Given the description of an element on the screen output the (x, y) to click on. 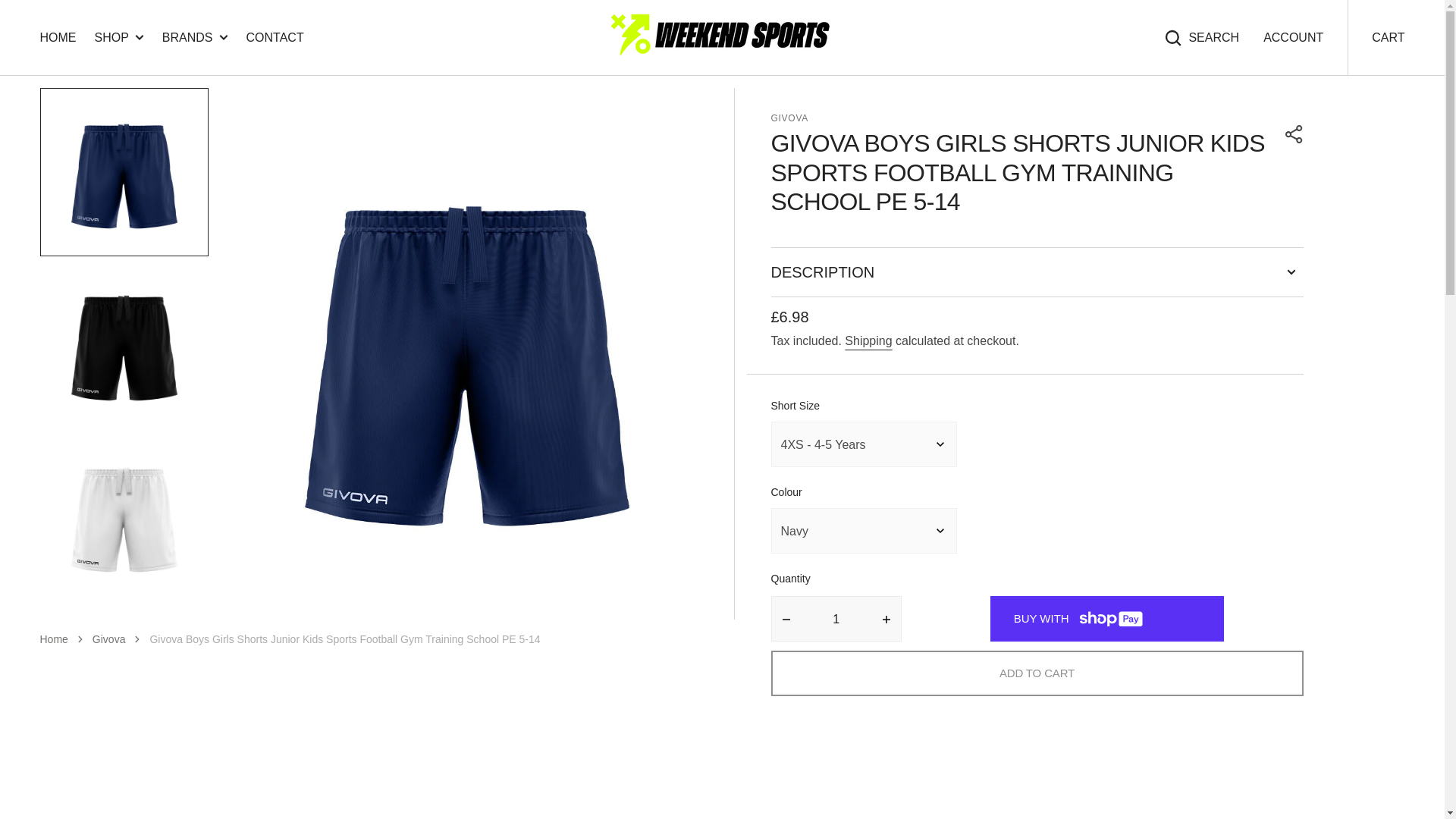
Search (1201, 37)
HOME (57, 37)
1 (836, 619)
Home (52, 639)
SKIP TO CONTENT (21, 22)
SHOP (118, 36)
